Given the description of an element on the screen output the (x, y) to click on. 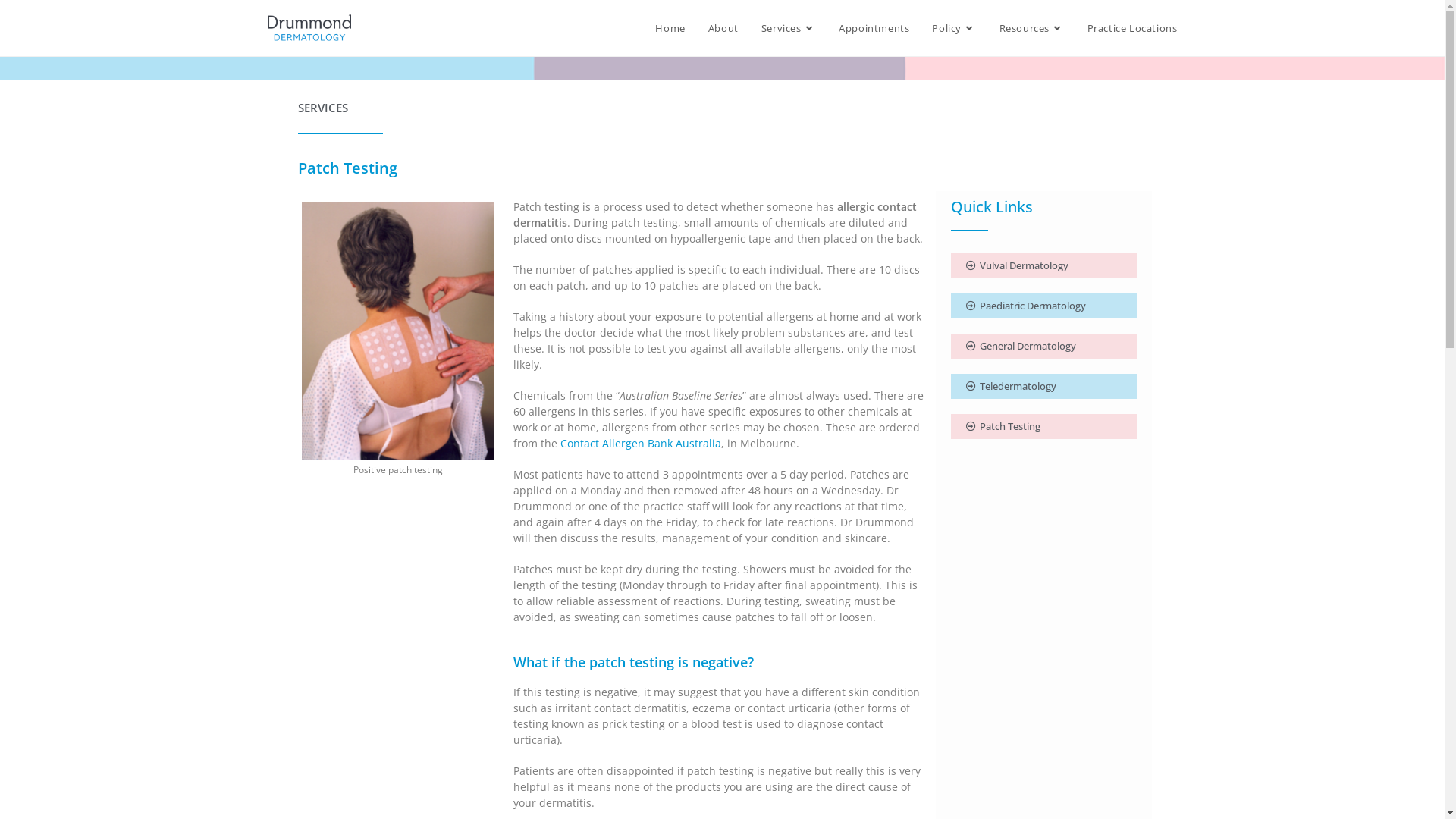
Patch Testing Element type: text (1002, 426)
Contact Allergen Bank Australia Element type: text (640, 443)
About Element type: text (722, 28)
Services Element type: text (788, 28)
General Dermatology Element type: text (1020, 345)
Appointments Element type: text (873, 28)
Paediatric Dermatology Element type: text (1025, 305)
Practice Locations Element type: text (1132, 28)
Teledermatology Element type: text (1010, 385)
Home Element type: text (669, 28)
Vulval Dermatology Element type: text (1016, 265)
Policy Element type: text (953, 28)
Resources Element type: text (1032, 28)
